Given the description of an element on the screen output the (x, y) to click on. 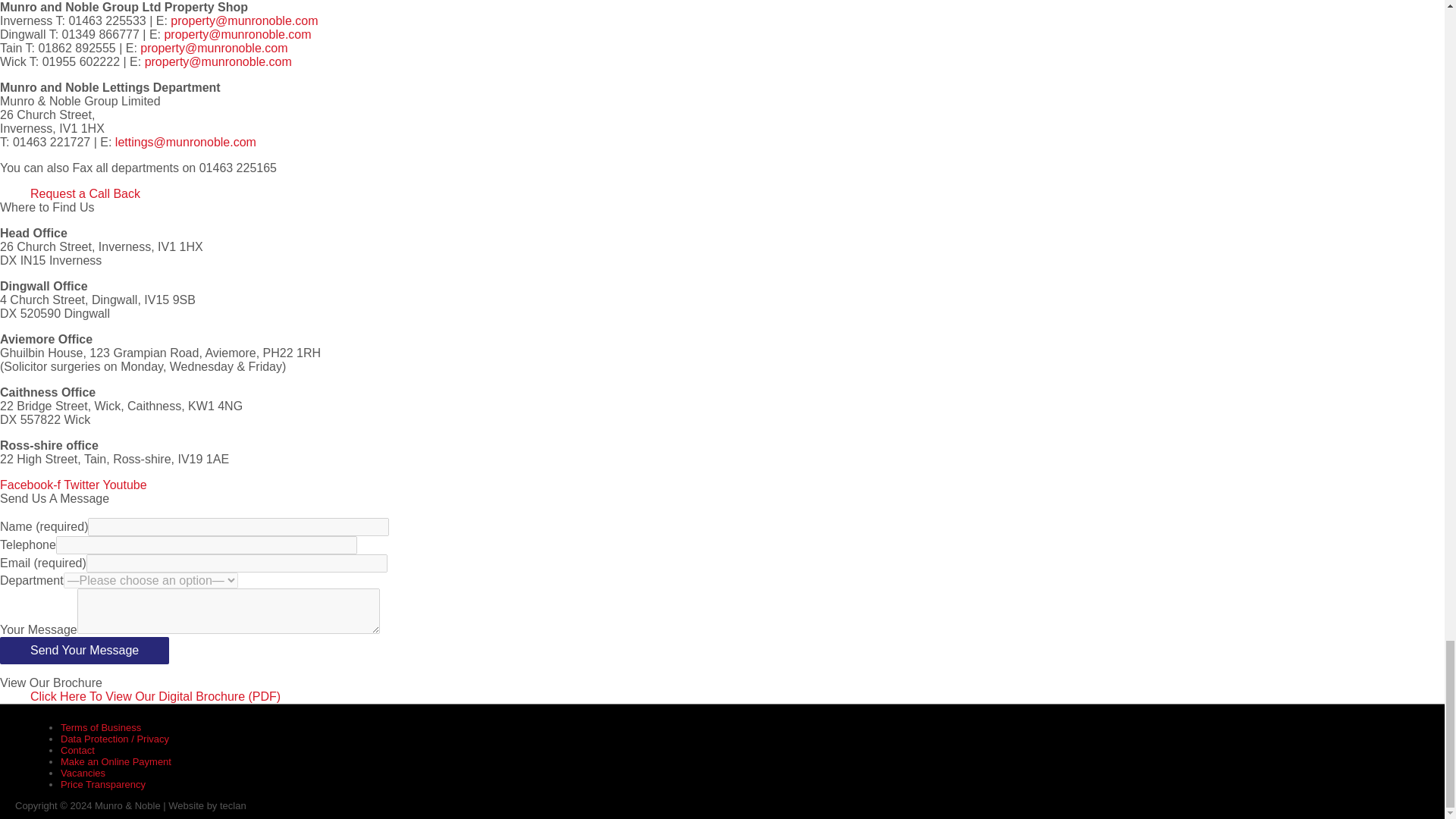
Send Your Message (84, 650)
